Given the description of an element on the screen output the (x, y) to click on. 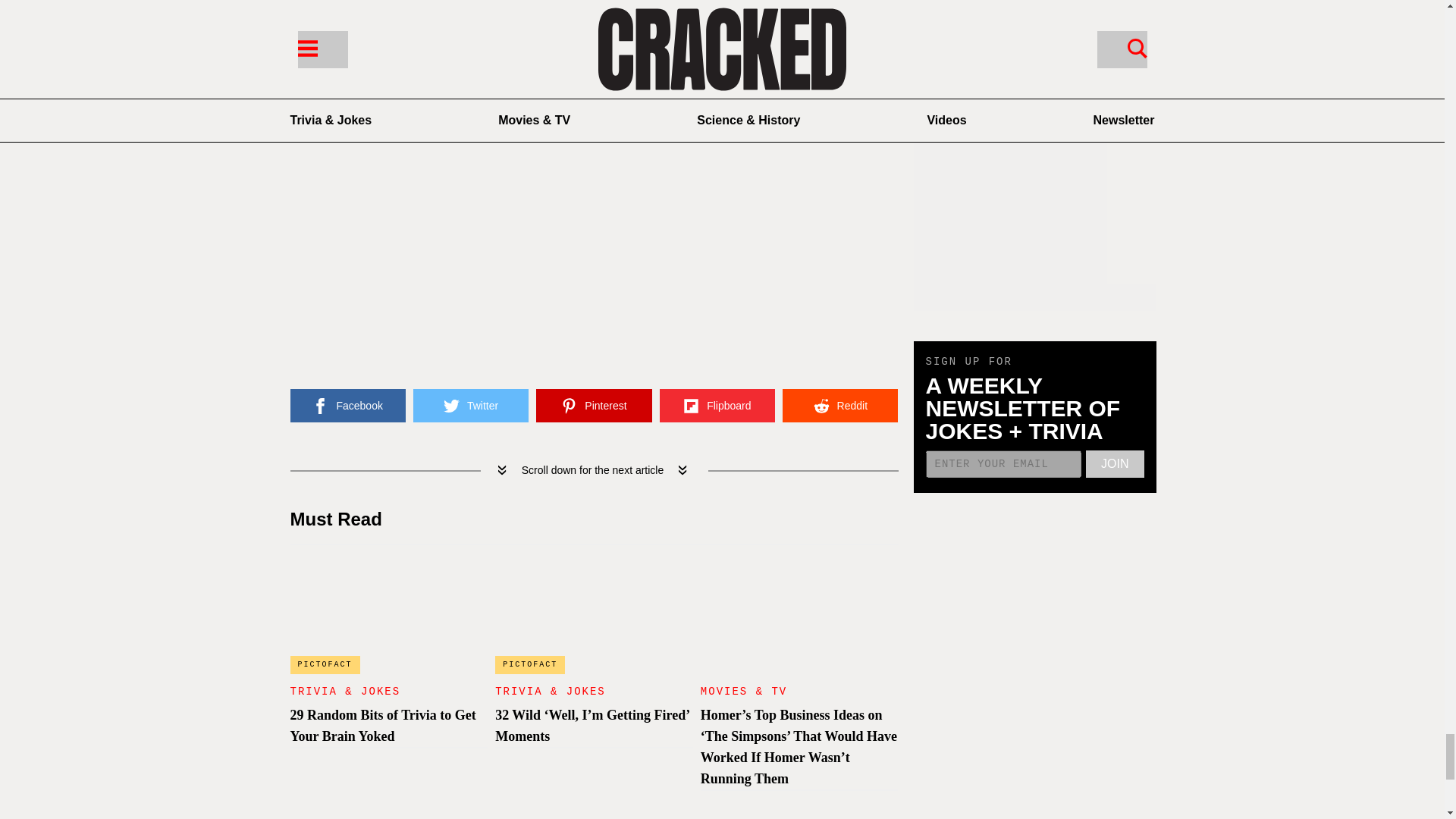
Facebook (346, 405)
Twitter (470, 405)
Flipboard (716, 405)
Reddit (840, 405)
Pinterest (592, 405)
